Given the description of an element on the screen output the (x, y) to click on. 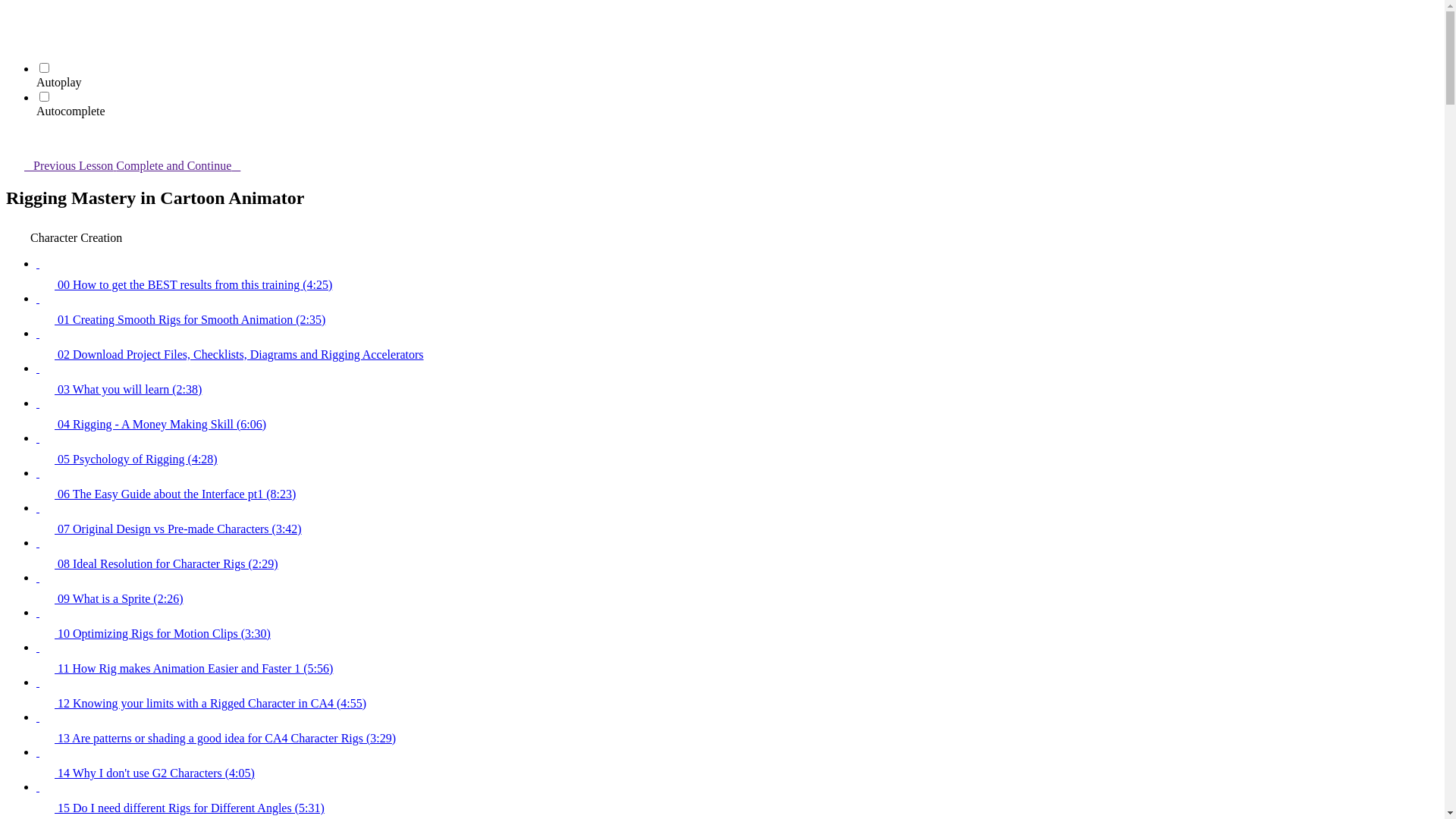
  04 Rigging - A Money Making Skill (6:06) Element type: text (737, 413)
  09 What is a Sprite (2:26) Element type: text (737, 588)
  07 Original Design vs Pre-made Characters (3:42) Element type: text (737, 518)
  06 The Easy Guide about the Interface pt1 (8:23) Element type: text (737, 483)
Settings Menu Element type: hover (15, 36)
  05 Psychology of Rigging (4:28) Element type: text (737, 448)
Back to course curriculum Element type: hover (15, 15)
  11 How Rig makes Animation Easier and Faster 1 (5:56) Element type: text (737, 657)
  08 Ideal Resolution for Character Rigs (2:29) Element type: text (737, 553)
  15 Do I need different Rigs for Different Angles (5:31) Element type: text (737, 797)
  10 Optimizing Rigs for Motion Clips (3:30) Element type: text (737, 622)
  01 Creating Smooth Rigs for Smooth Animation (2:35) Element type: text (737, 308)
Course Sidebar Element type: hover (15, 139)
  14 Why I don't use G2 Characters (4:05) Element type: text (737, 762)
  03 What you will learn (2:38) Element type: text (737, 378)
Complete and Continue   Element type: text (187, 165)
  Previous Lesson Element type: text (61, 165)
  00 How to get the BEST results from this training (4:25) Element type: text (737, 274)
